Given the description of an element on the screen output the (x, y) to click on. 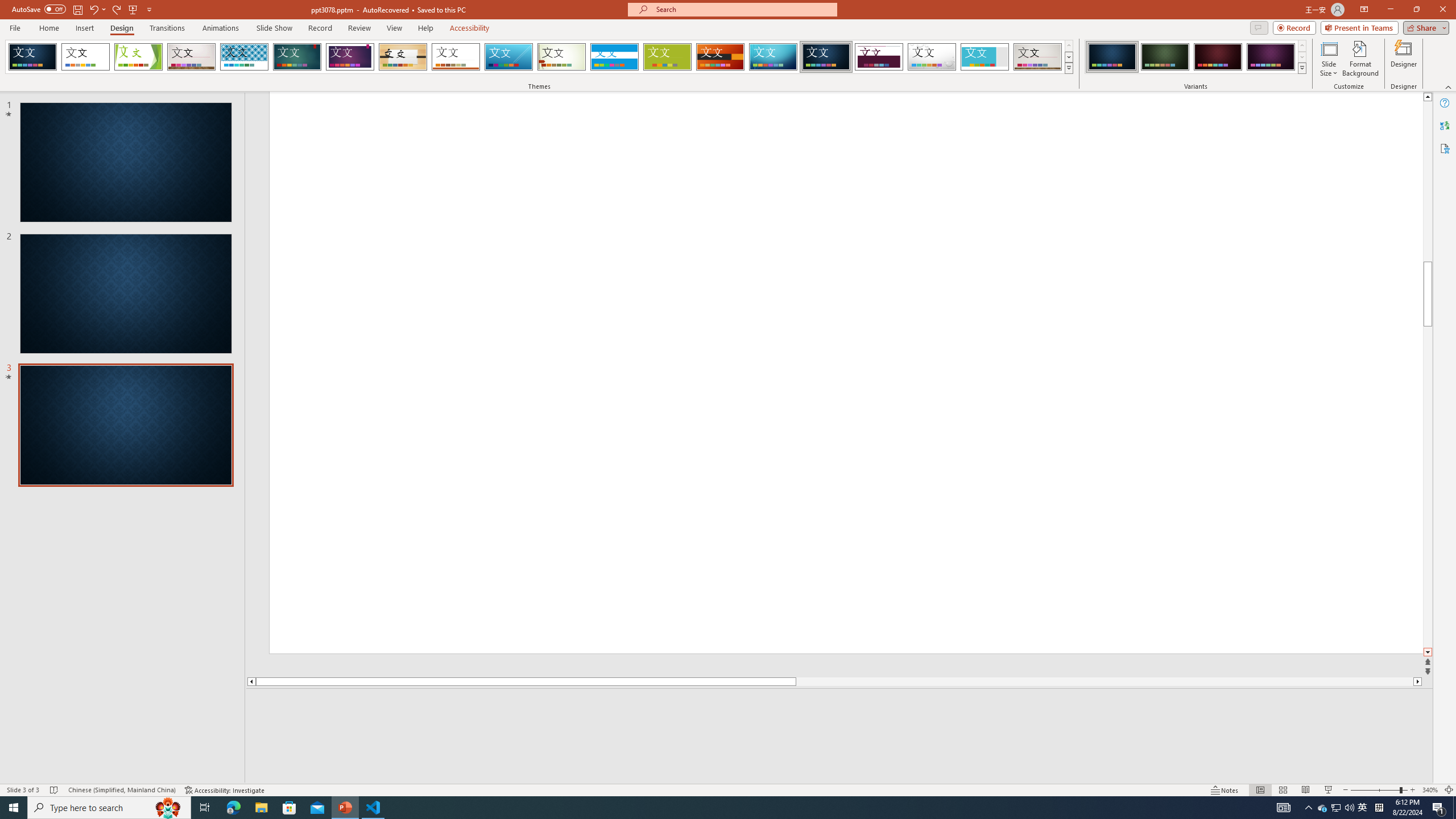
Damask Variant 2 (1164, 56)
AutomationID: SlideThemesGallery (539, 56)
Slice (508, 56)
Retrospect (455, 56)
